Given the description of an element on the screen output the (x, y) to click on. 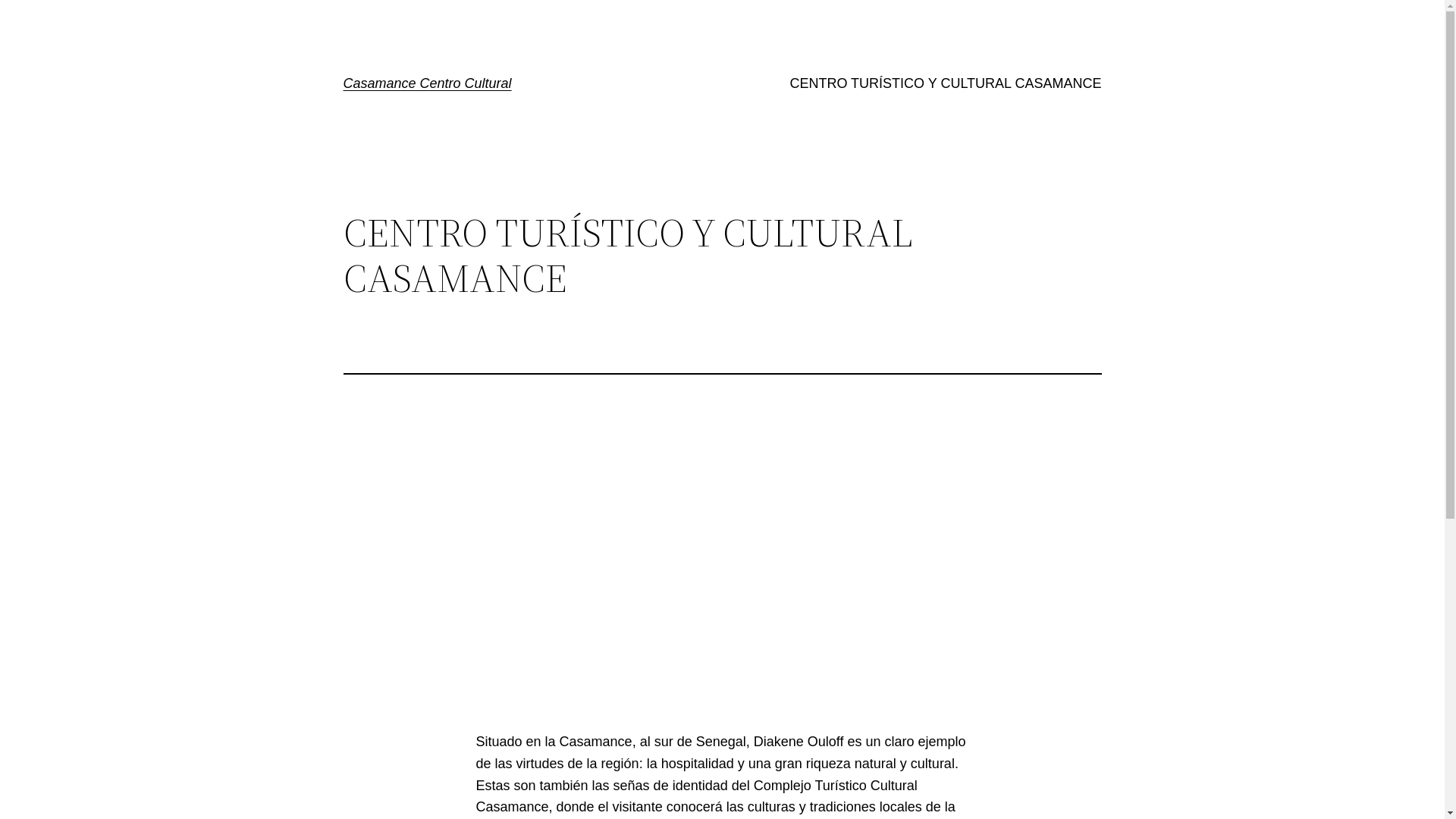
Malick Element type: hover (722, 573)
Casamance Centro Cultural Element type: text (426, 83)
